Given the description of an element on the screen output the (x, y) to click on. 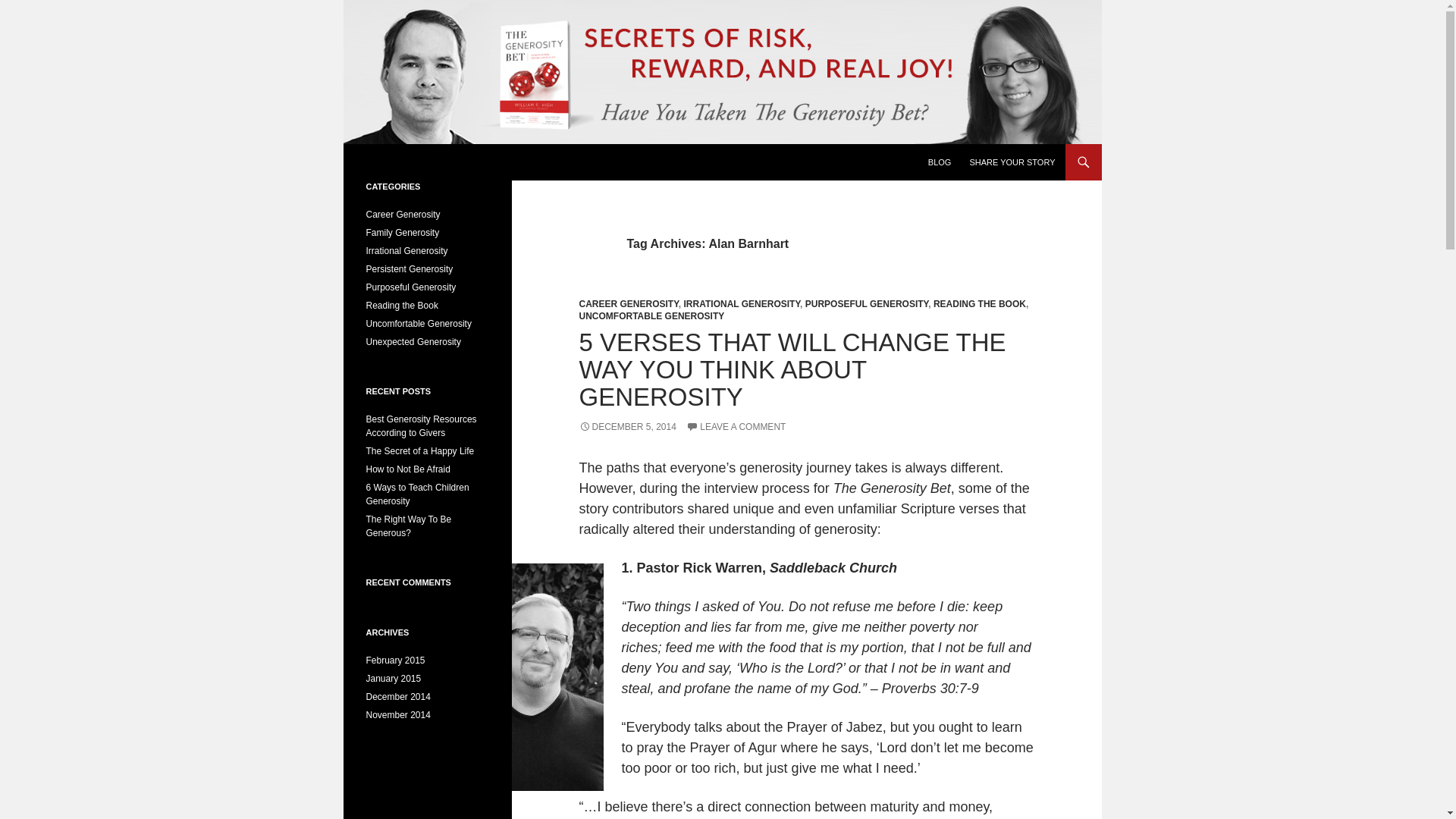
Purposeful Generosity (410, 286)
Persistent Generosity (408, 268)
LEAVE A COMMENT (735, 426)
READING THE BOOK (979, 303)
Family Generosity (402, 232)
Career Generosity (402, 214)
BLOG (939, 162)
SHARE YOUR STORY (1011, 162)
CAREER GENEROSITY (628, 303)
Irrational Generosity (405, 250)
